Given the description of an element on the screen output the (x, y) to click on. 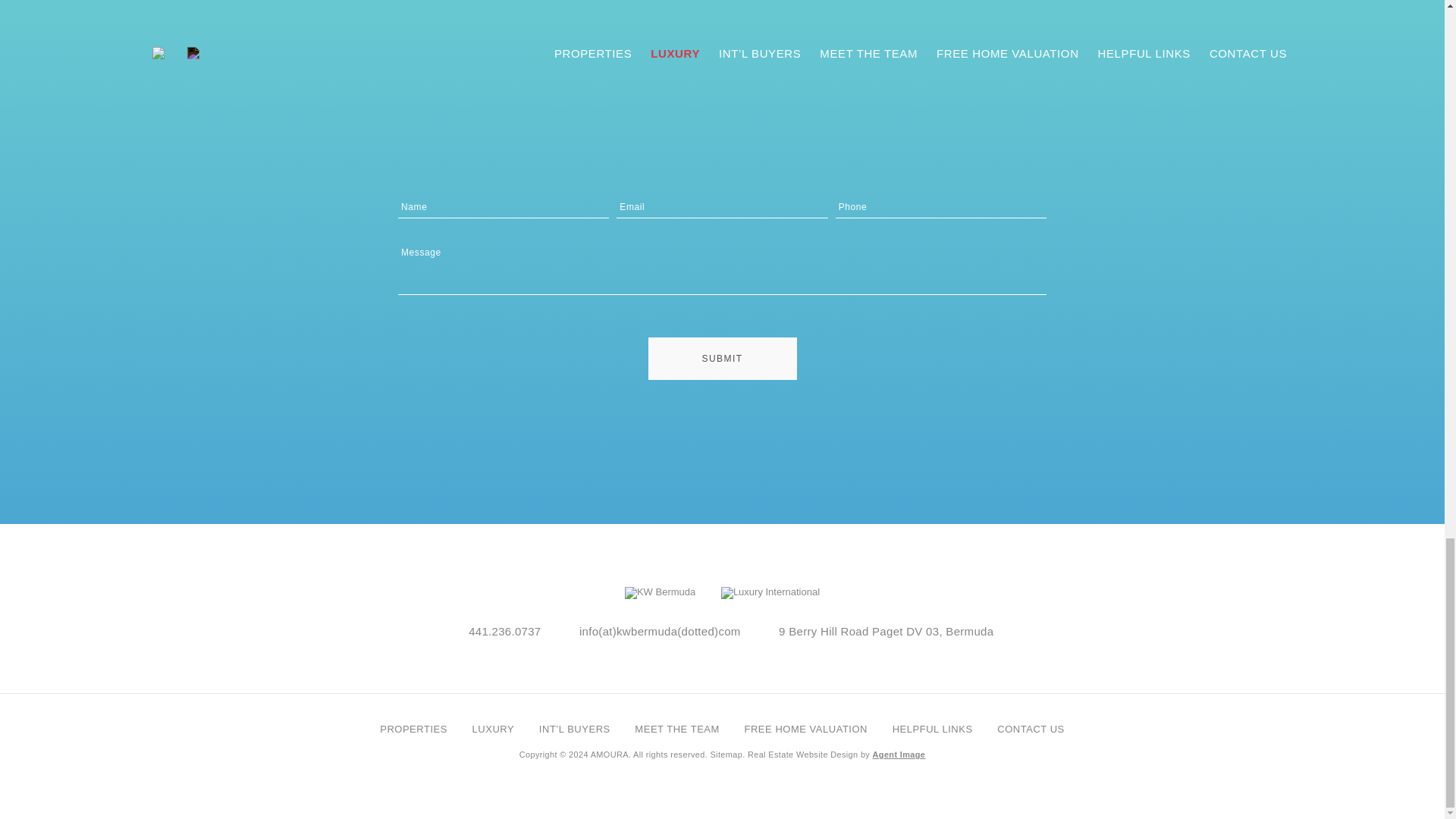
Submit (721, 358)
MEET THE TEAM (676, 728)
CONTACT US (1030, 728)
PROPERTIES (413, 728)
LUXURY (493, 728)
Submit (721, 358)
HELPFUL LINKS (932, 728)
441.236.0737 (504, 631)
FREE HOME VALUATION (805, 728)
Agent Image (899, 754)
